Given the description of an element on the screen output the (x, y) to click on. 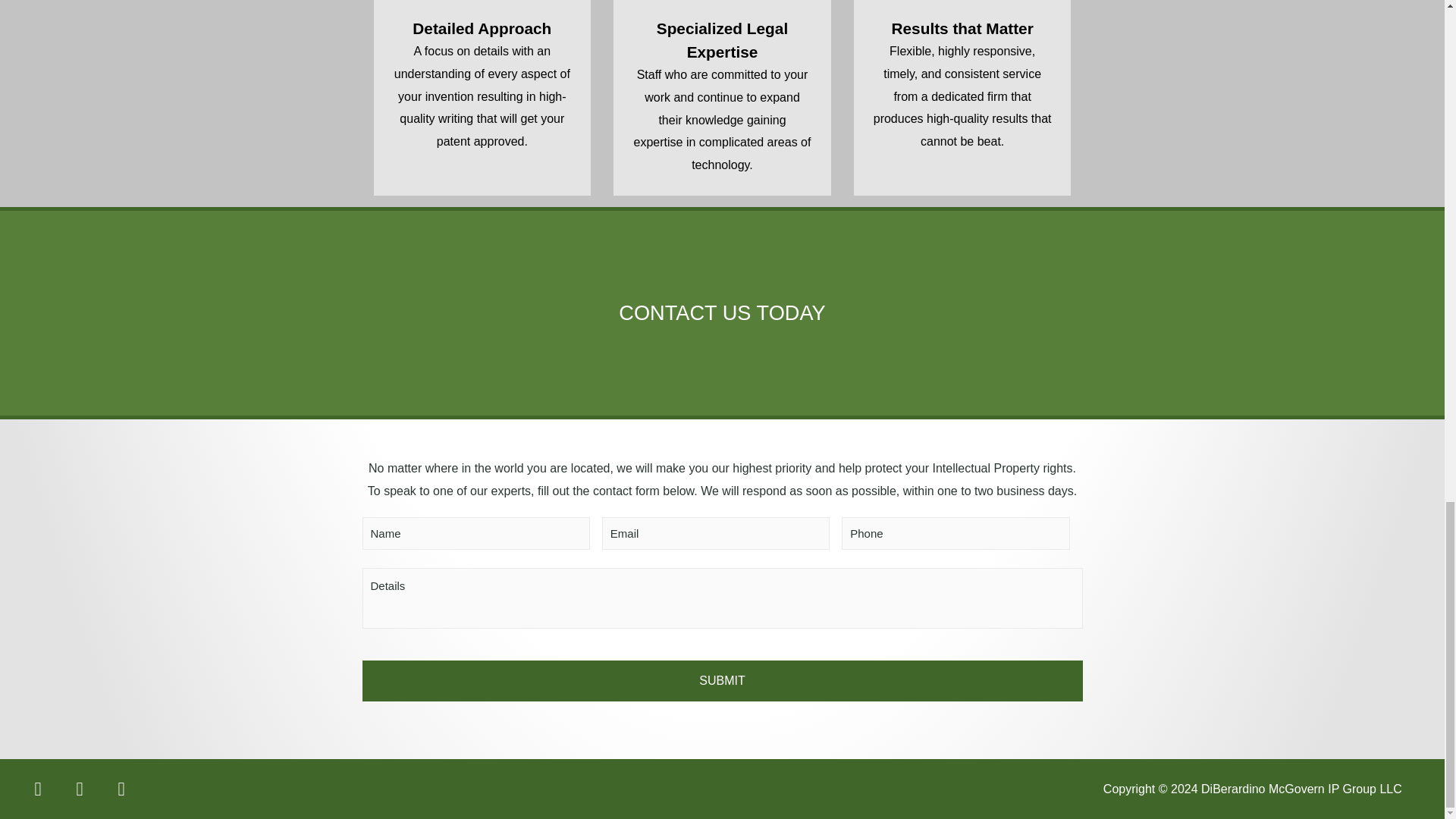
Twitter (80, 788)
Youtube (120, 788)
Facebook (37, 788)
Submit (722, 680)
Submit (722, 680)
